Given the description of an element on the screen output the (x, y) to click on. 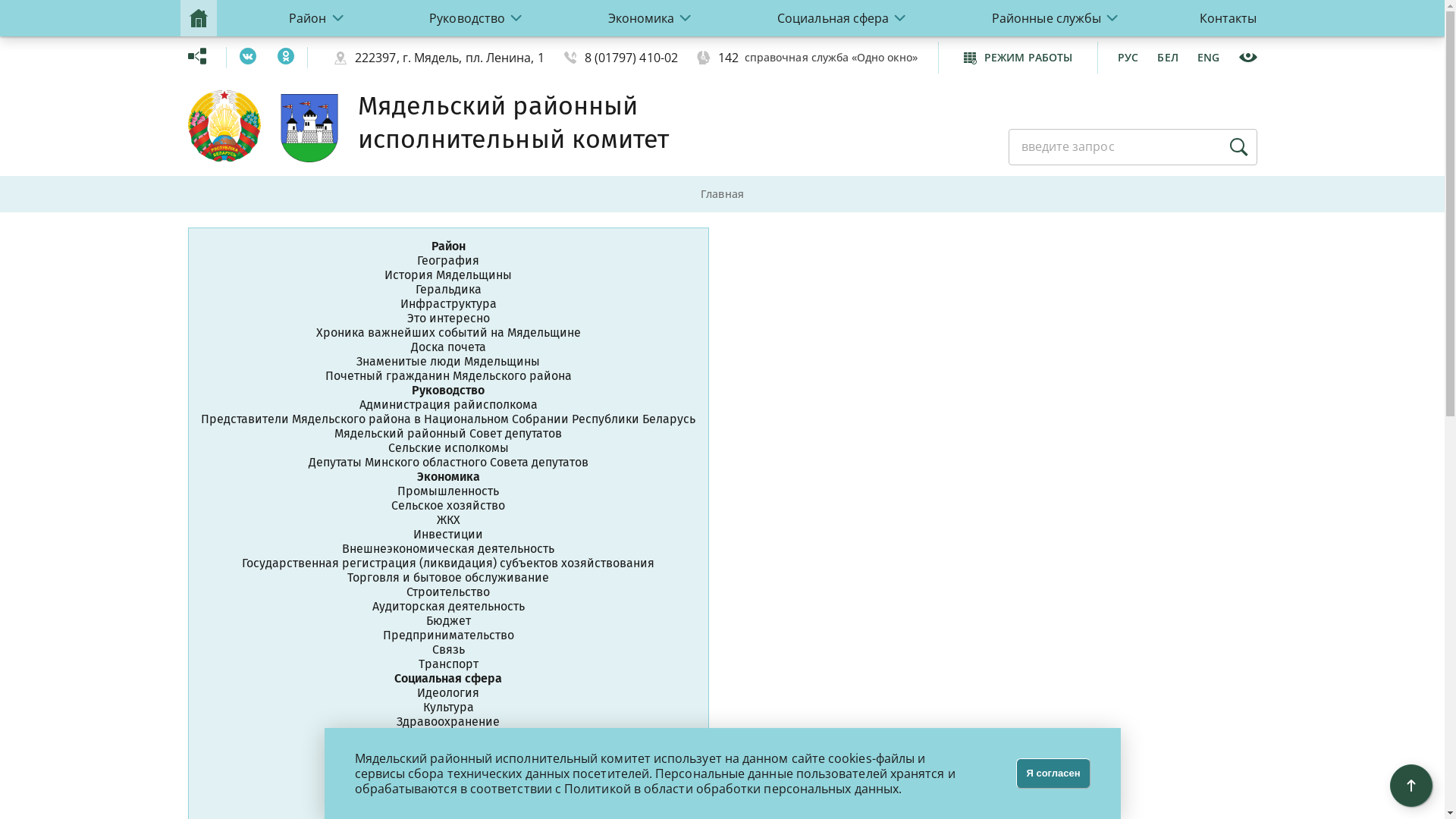
ENG Element type: text (1208, 57)
142 Element type: text (728, 57)
8 (01797) 410-02 Element type: text (630, 57)
